Given the description of an element on the screen output the (x, y) to click on. 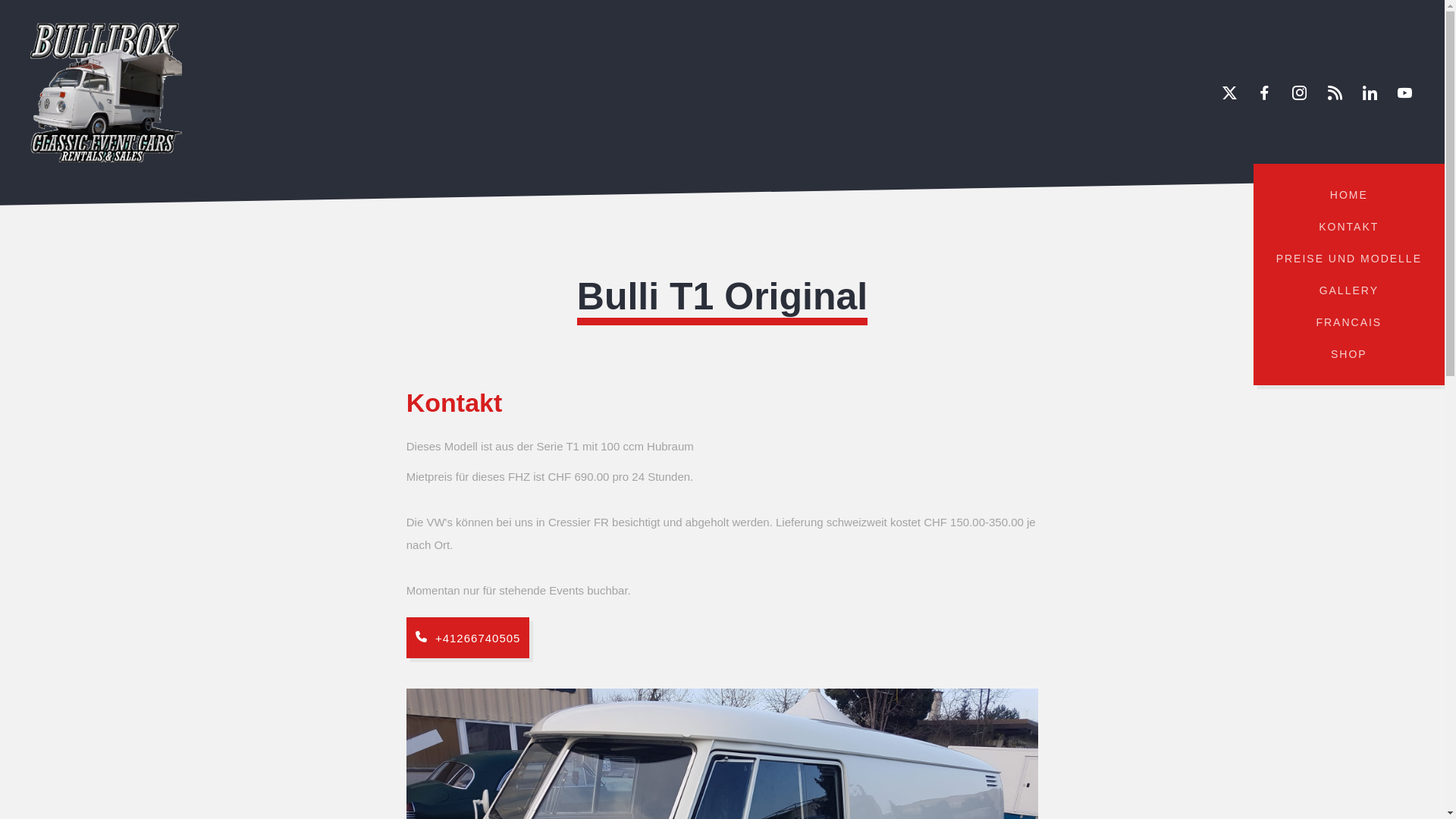
Limo1 Classic Cars Garage Cressier SA Element type: hover (106, 92)
GALLERY Element type: text (1349, 290)
KONTAKT Element type: text (1349, 226)
PREISE UND MODELLE Element type: text (1349, 258)
HOME Element type: text (1349, 194)
SHOP Element type: text (1349, 354)
FRANCAIS Element type: text (1349, 322)
+41266740505 Element type: text (468, 637)
